Given the description of an element on the screen output the (x, y) to click on. 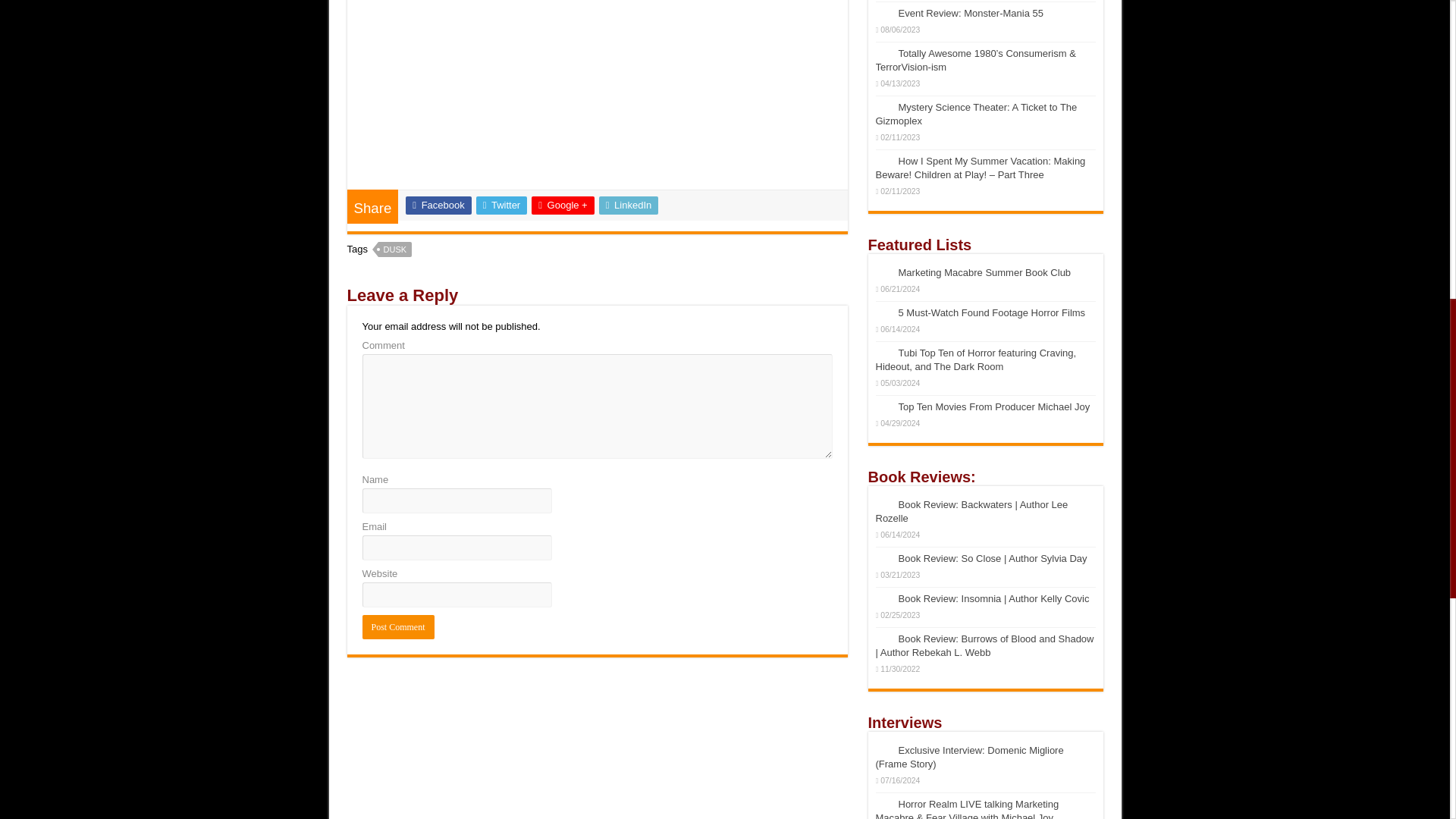
Post Comment (397, 627)
